Given the description of an element on the screen output the (x, y) to click on. 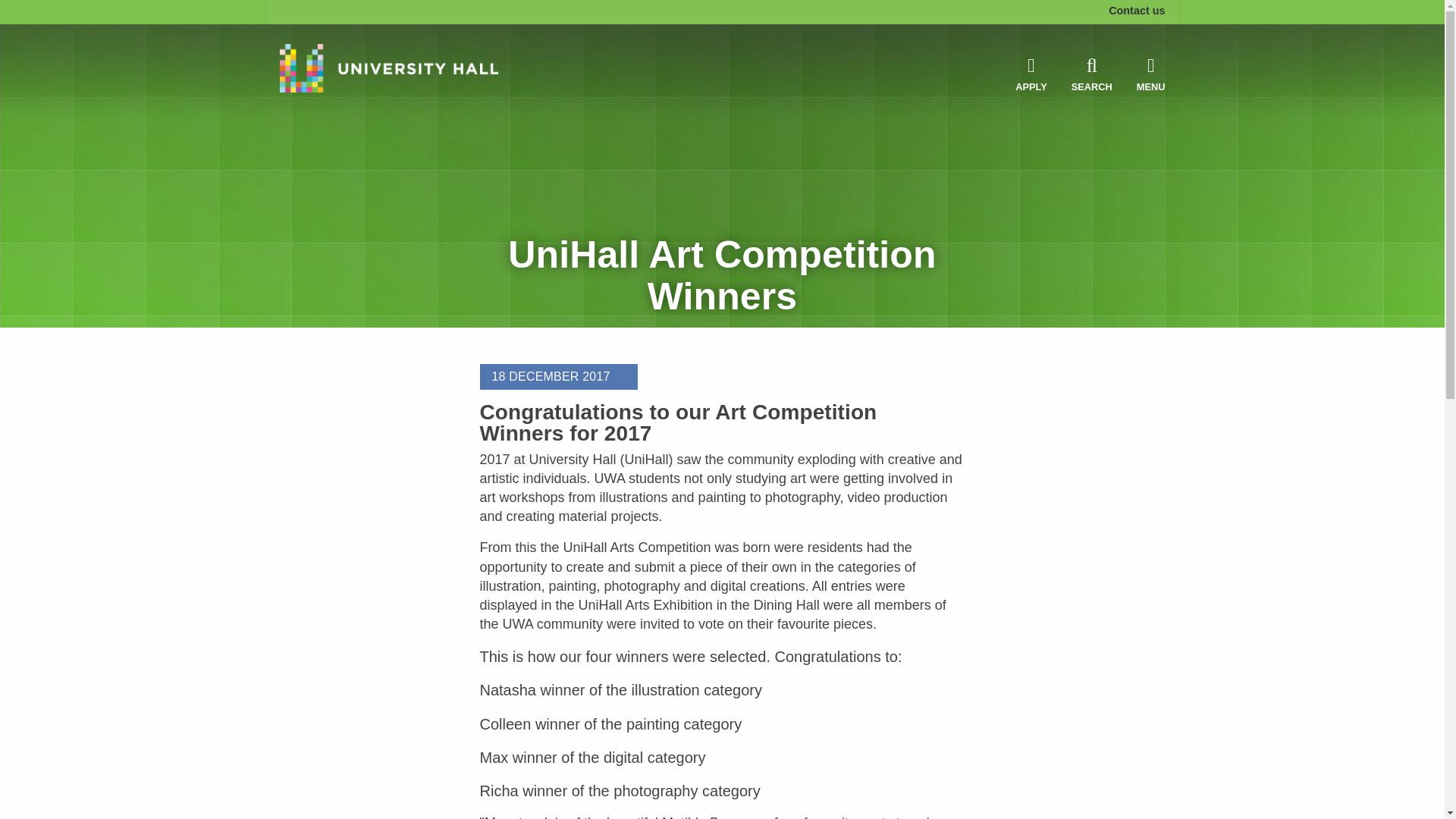
MENU (1150, 74)
SEARCH (1091, 74)
Contact us (1142, 9)
APPLY (1031, 74)
